Given the description of an element on the screen output the (x, y) to click on. 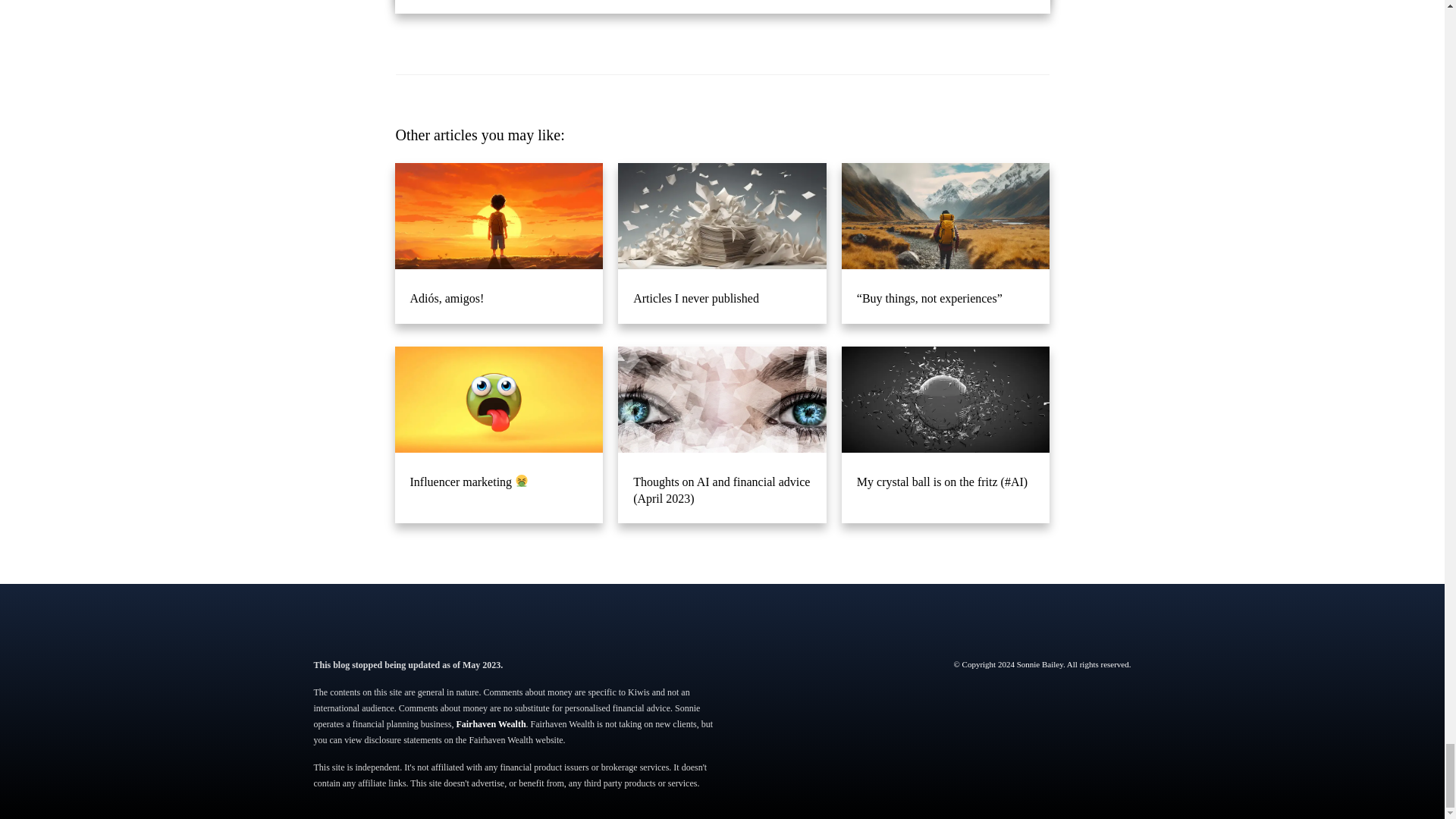
Articles I never published (722, 294)
Influencer marketing (498, 434)
Articles I never published (722, 242)
Influencer marketing (498, 478)
Articles I never published (722, 294)
Fairhaven Wealth (490, 724)
